Given the description of an element on the screen output the (x, y) to click on. 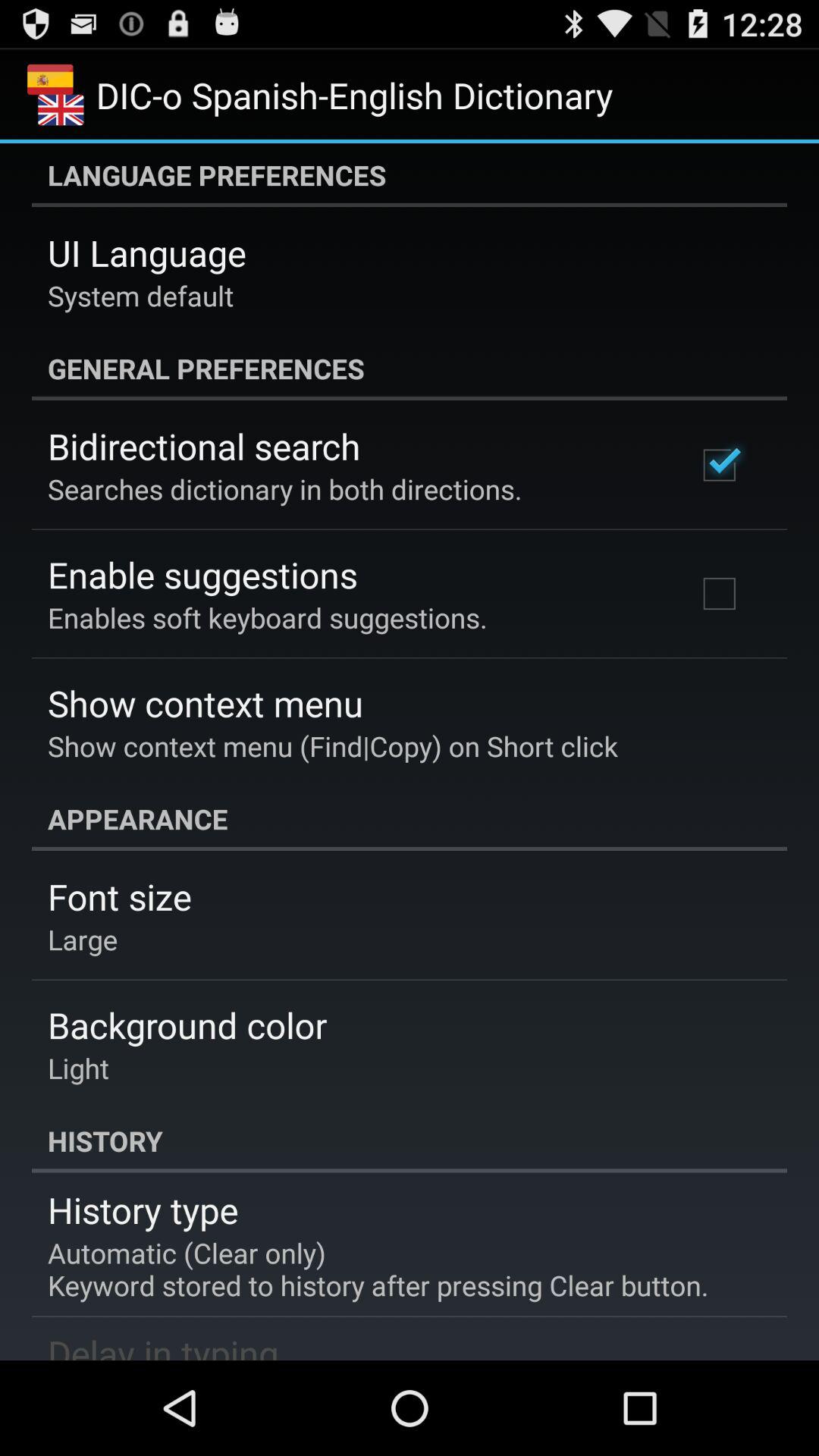
launch icon below the appearance item (119, 896)
